Given the description of an element on the screen output the (x, y) to click on. 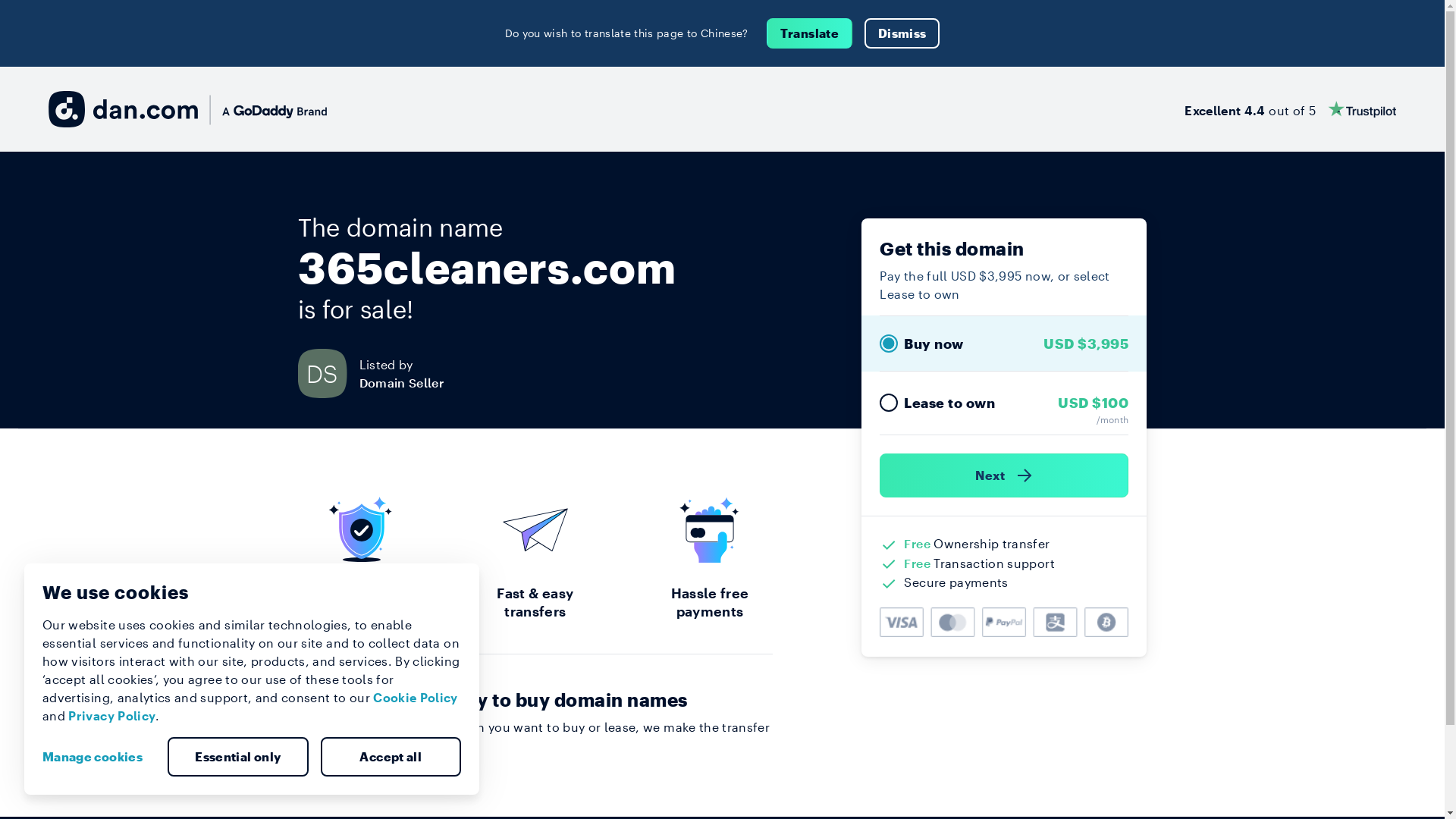
Next
) Element type: text (1003, 475)
Dismiss Element type: text (901, 33)
Accept all Element type: text (390, 756)
Privacy Policy Element type: text (111, 715)
Excellent 4.4 out of 5 Element type: text (1290, 109)
Translate Element type: text (809, 33)
Essential only Element type: text (237, 756)
Cookie Policy Element type: text (415, 697)
Manage cookies Element type: text (98, 756)
